Given the description of an element on the screen output the (x, y) to click on. 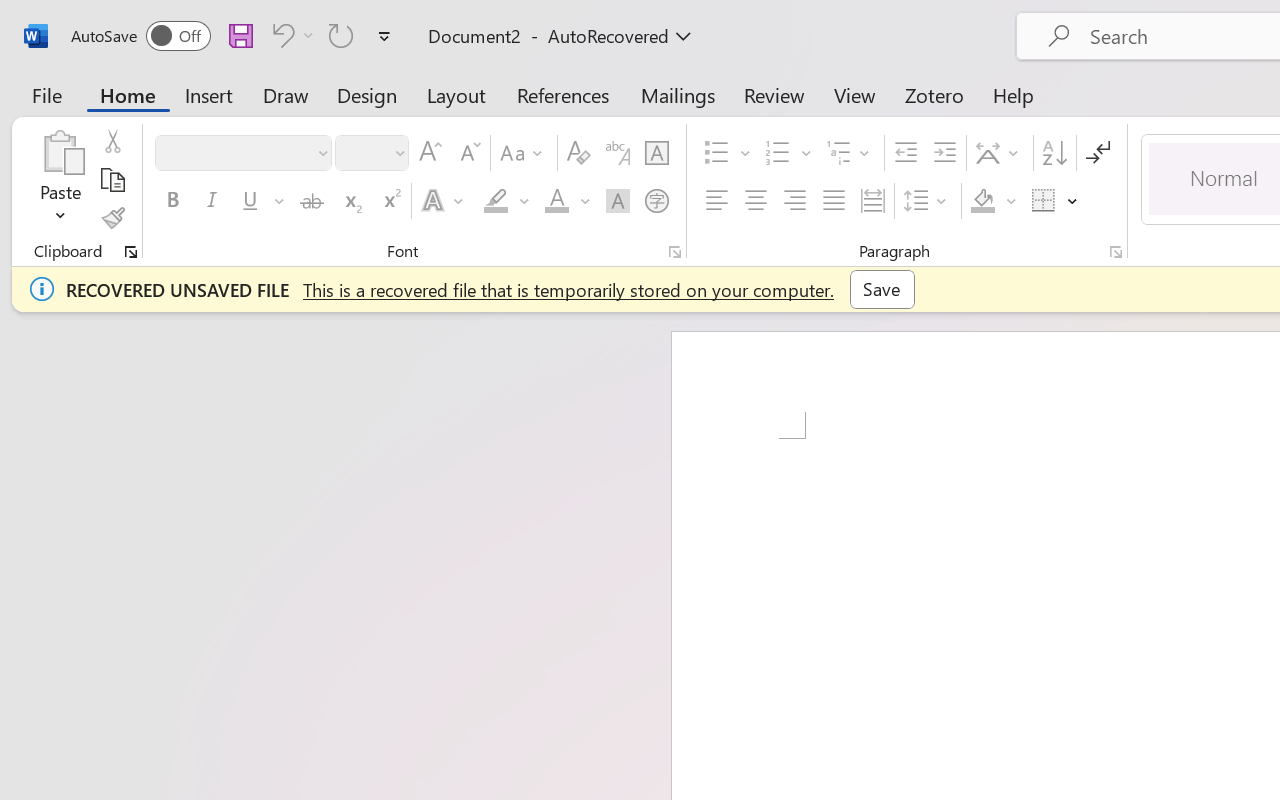
Asian Layout (1000, 153)
Bold (172, 201)
Clear Formatting (578, 153)
Strikethrough (312, 201)
Sort... (1054, 153)
Distributed (872, 201)
